Given the description of an element on the screen output the (x, y) to click on. 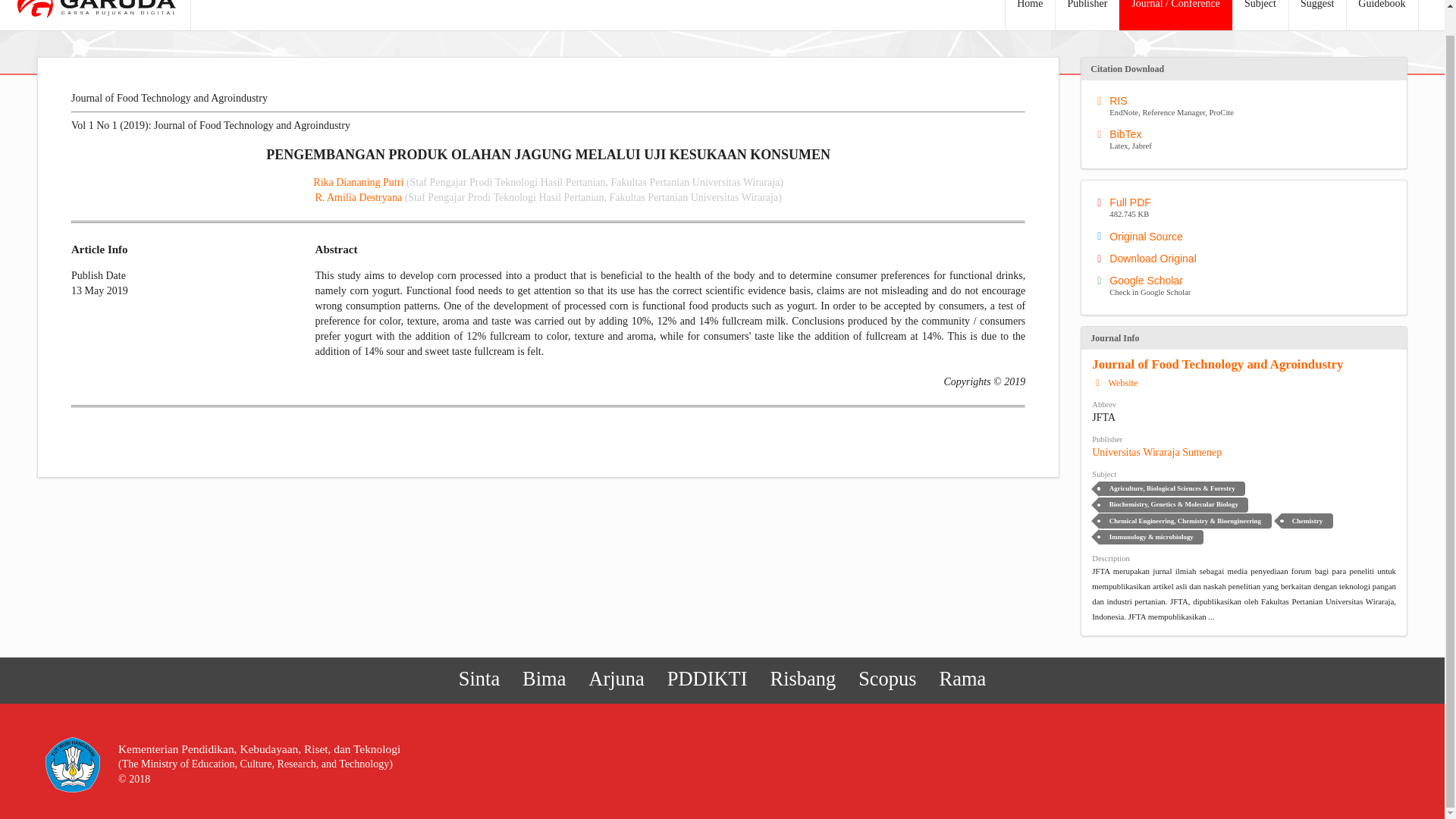
Suggest (1316, 15)
Guidebook (1380, 15)
Universitas Wiraraja Sumenep (1156, 451)
Journal of Food Technology and Agroindustry (1246, 106)
Risbang (1217, 364)
Home (802, 678)
Website (1029, 15)
